Given the description of an element on the screen output the (x, y) to click on. 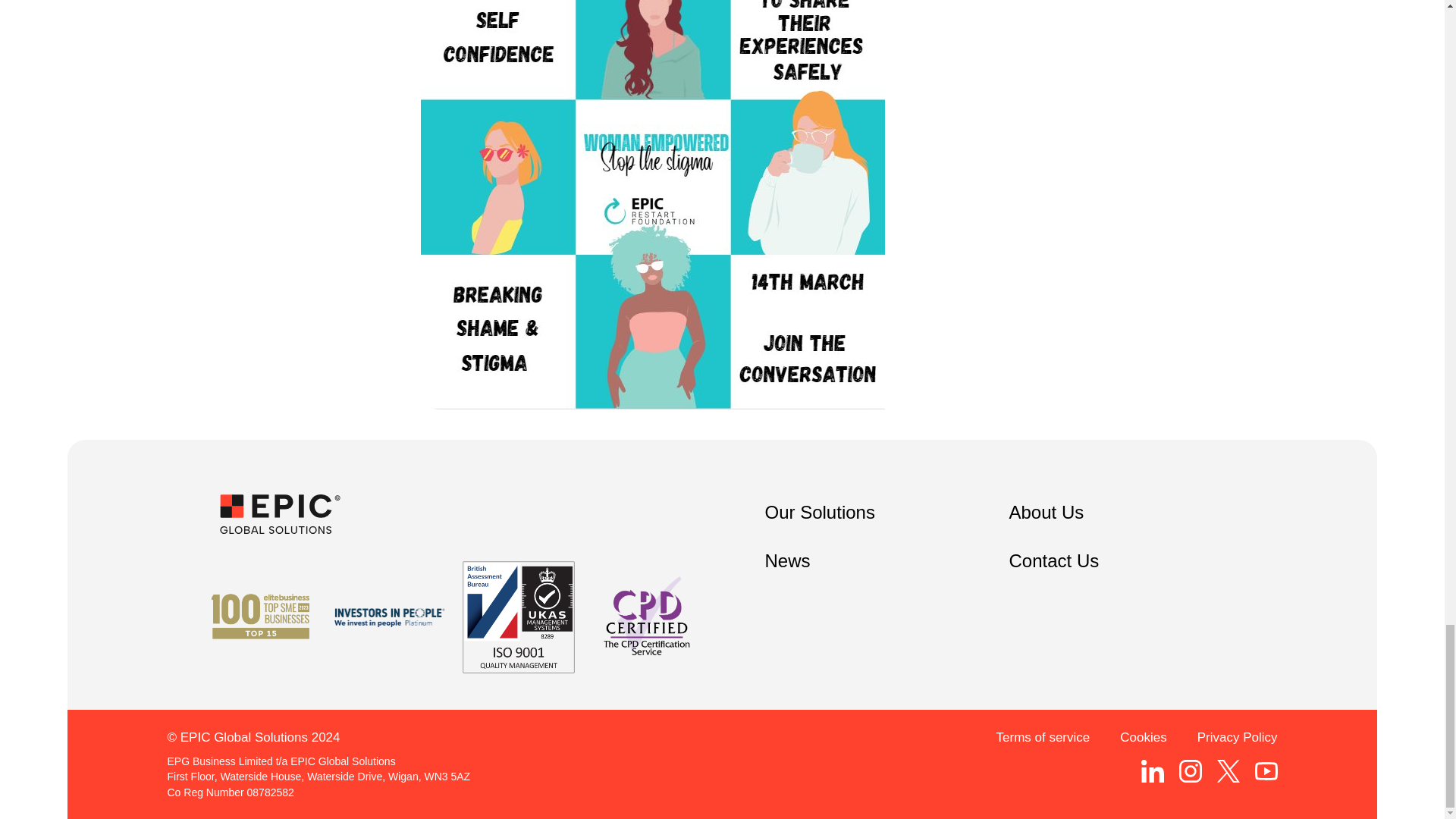
Privacy Policy (1237, 737)
About Us (1046, 512)
Terms of service (1042, 737)
Our Solutions (819, 512)
Contact Us (1054, 560)
Cookies (1142, 737)
News (786, 560)
